Given the description of an element on the screen output the (x, y) to click on. 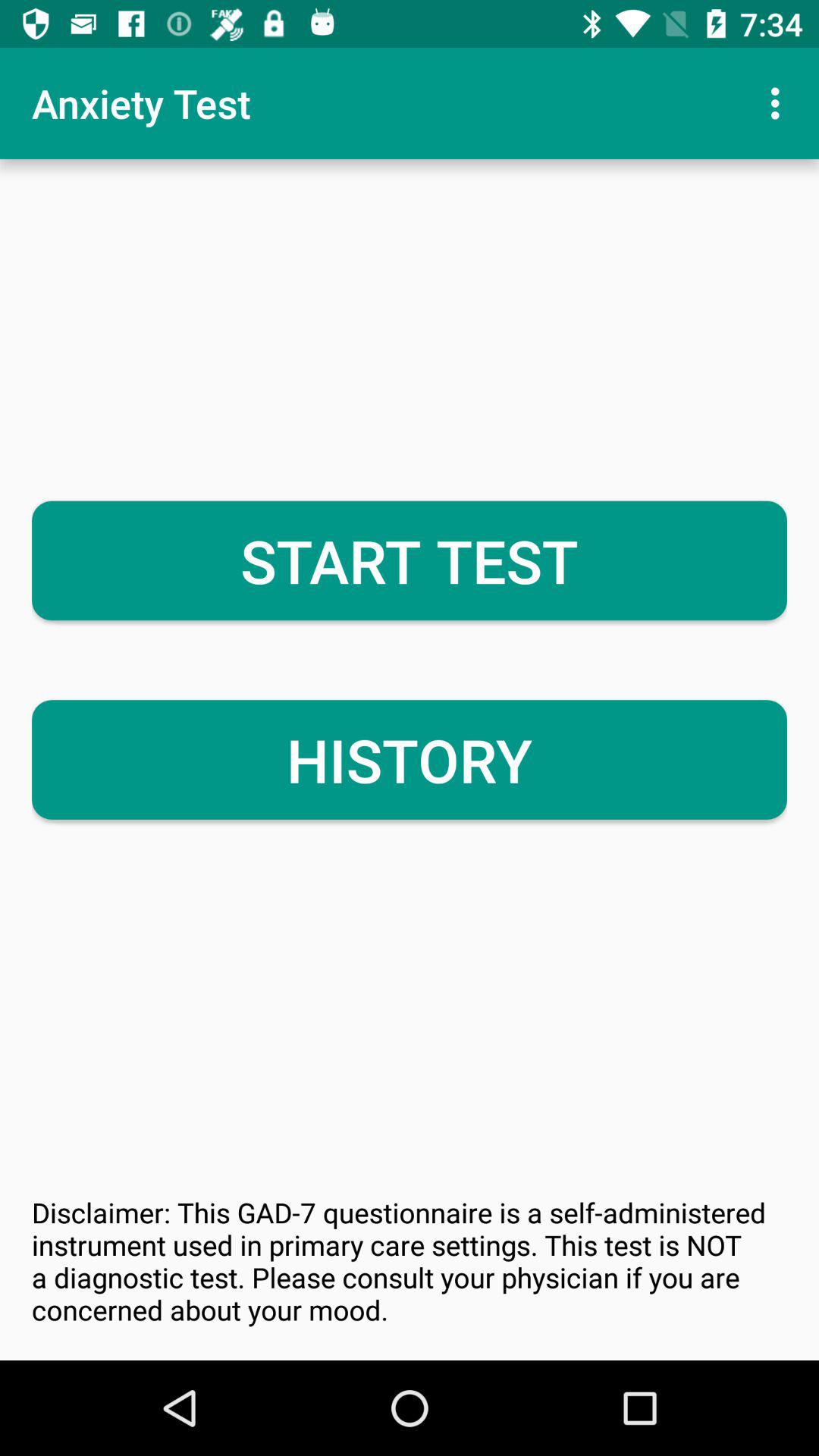
click the icon above history (409, 560)
